Given the description of an element on the screen output the (x, y) to click on. 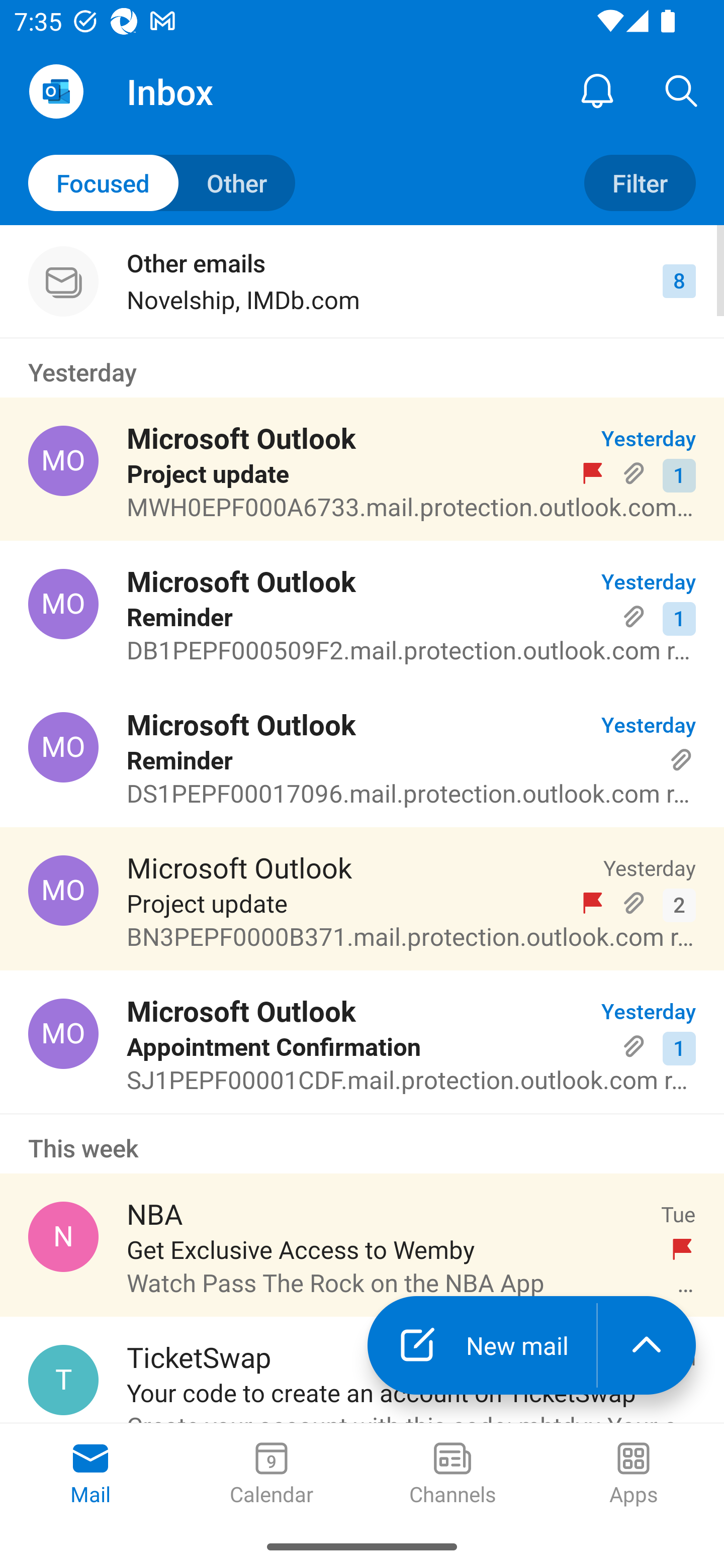
Notification Center (597, 90)
Search, ,  (681, 90)
Open Navigation Drawer (55, 91)
Toggle to other mails (161, 183)
Filter (639, 183)
Other emails Novelship, IMDb.com 8 (362, 281)
NBA, NBA@email.nba.com (63, 1236)
New mail (481, 1344)
launch the extended action menu (646, 1344)
TicketSwap, info@ticketswap.com (63, 1380)
Calendar (271, 1474)
Channels (452, 1474)
Apps (633, 1474)
